Given the description of an element on the screen output the (x, y) to click on. 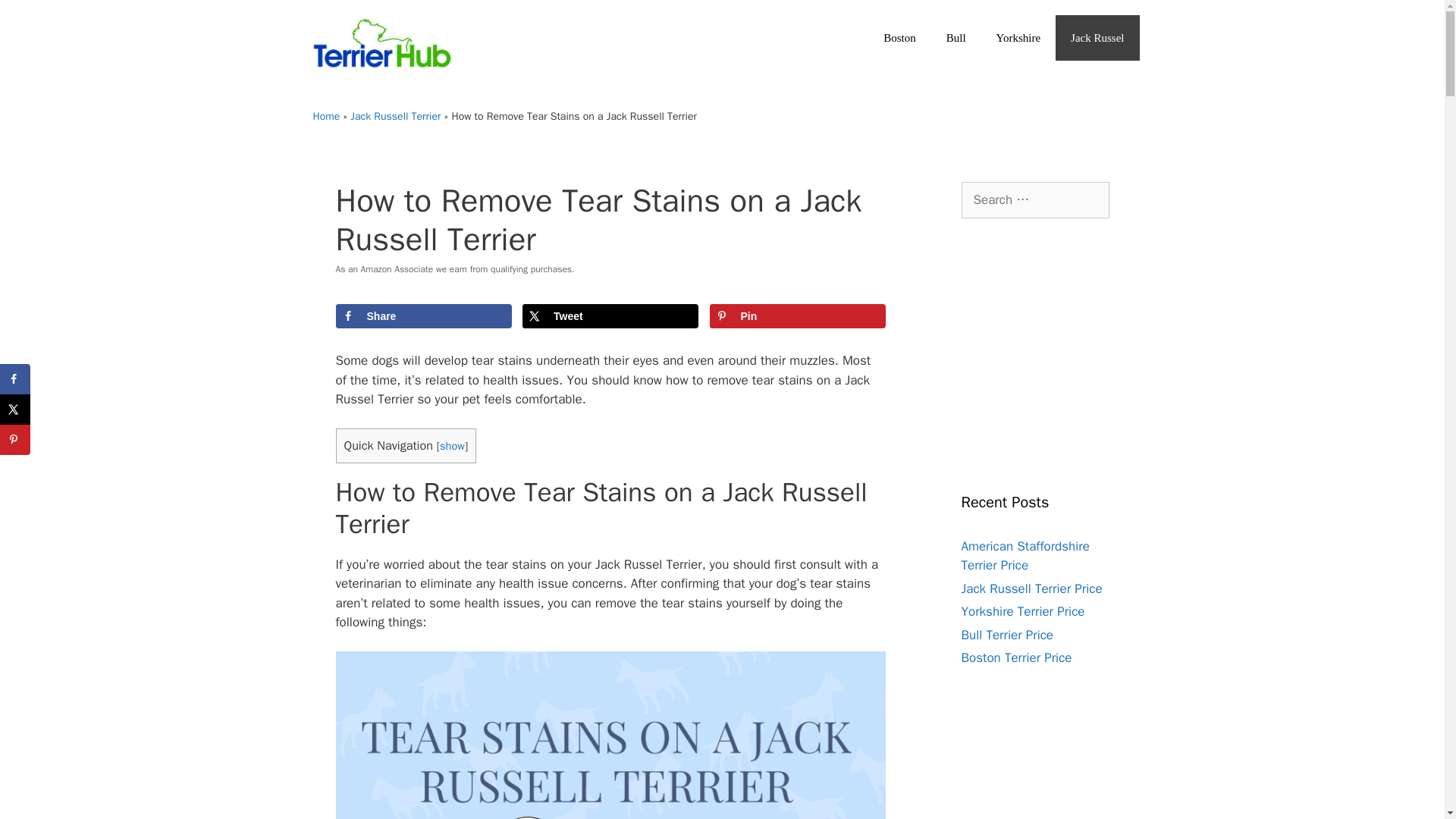
Bull (956, 37)
Share on Facebook (15, 378)
Yorkshire Terrier Price (1022, 611)
Bull Terrier Price (1007, 634)
Share (422, 315)
Boston Terrier Price (1015, 657)
Search for: (1034, 199)
Save to Pinterest (15, 440)
Search (35, 18)
Pin (797, 315)
Share on X (610, 315)
Jack Russell Terrier Price (1031, 588)
Home (326, 115)
Share on X (15, 409)
Boston (899, 37)
